Given the description of an element on the screen output the (x, y) to click on. 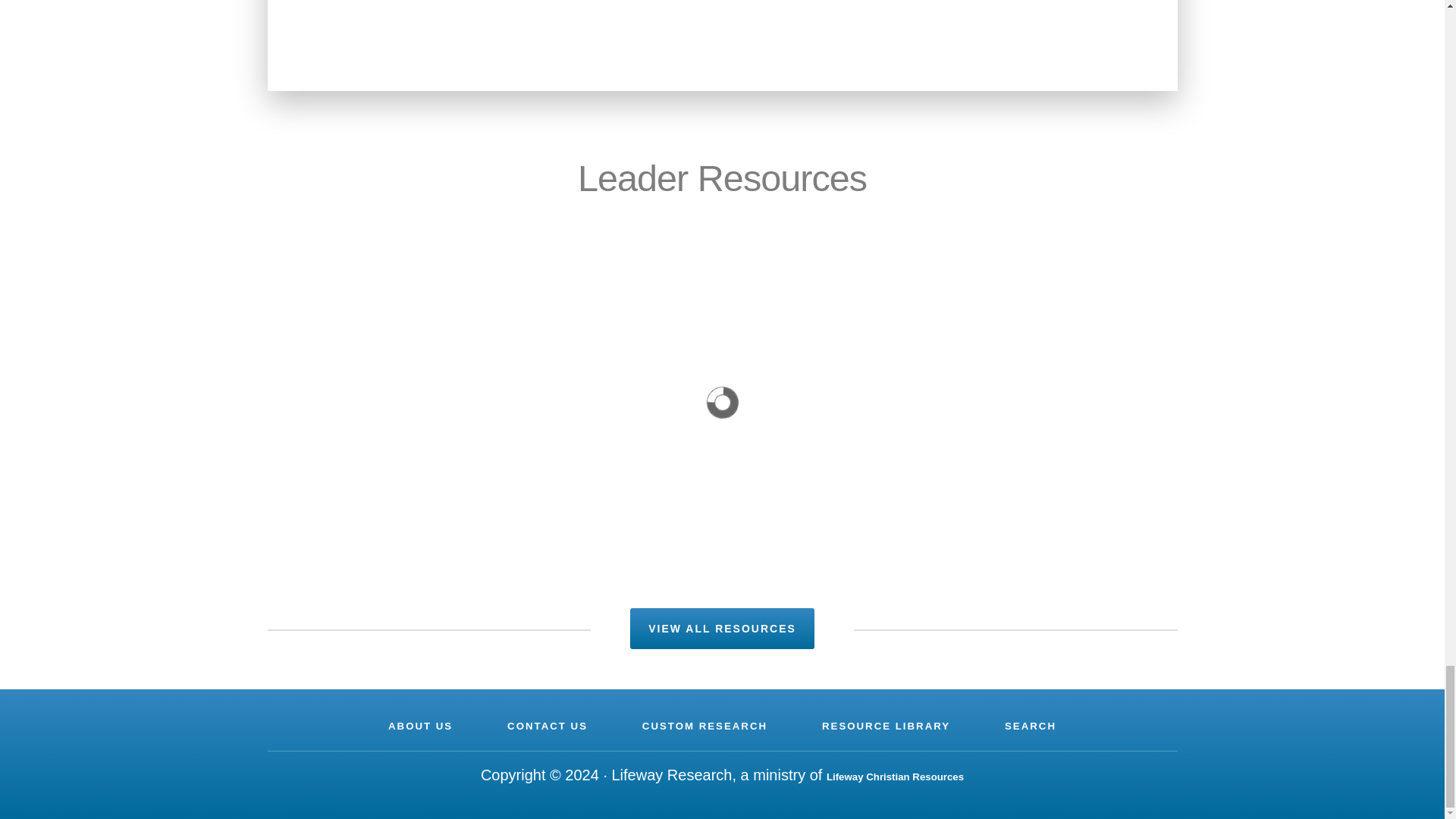
SEARCH (1029, 726)
ABOUT US (420, 726)
CONTACT US (546, 726)
Lifeway Christian Resources (895, 776)
VIEW ALL RESOURCES (721, 628)
RESOURCE LIBRARY (885, 726)
CUSTOM RESEARCH (704, 726)
